Given the description of an element on the screen output the (x, y) to click on. 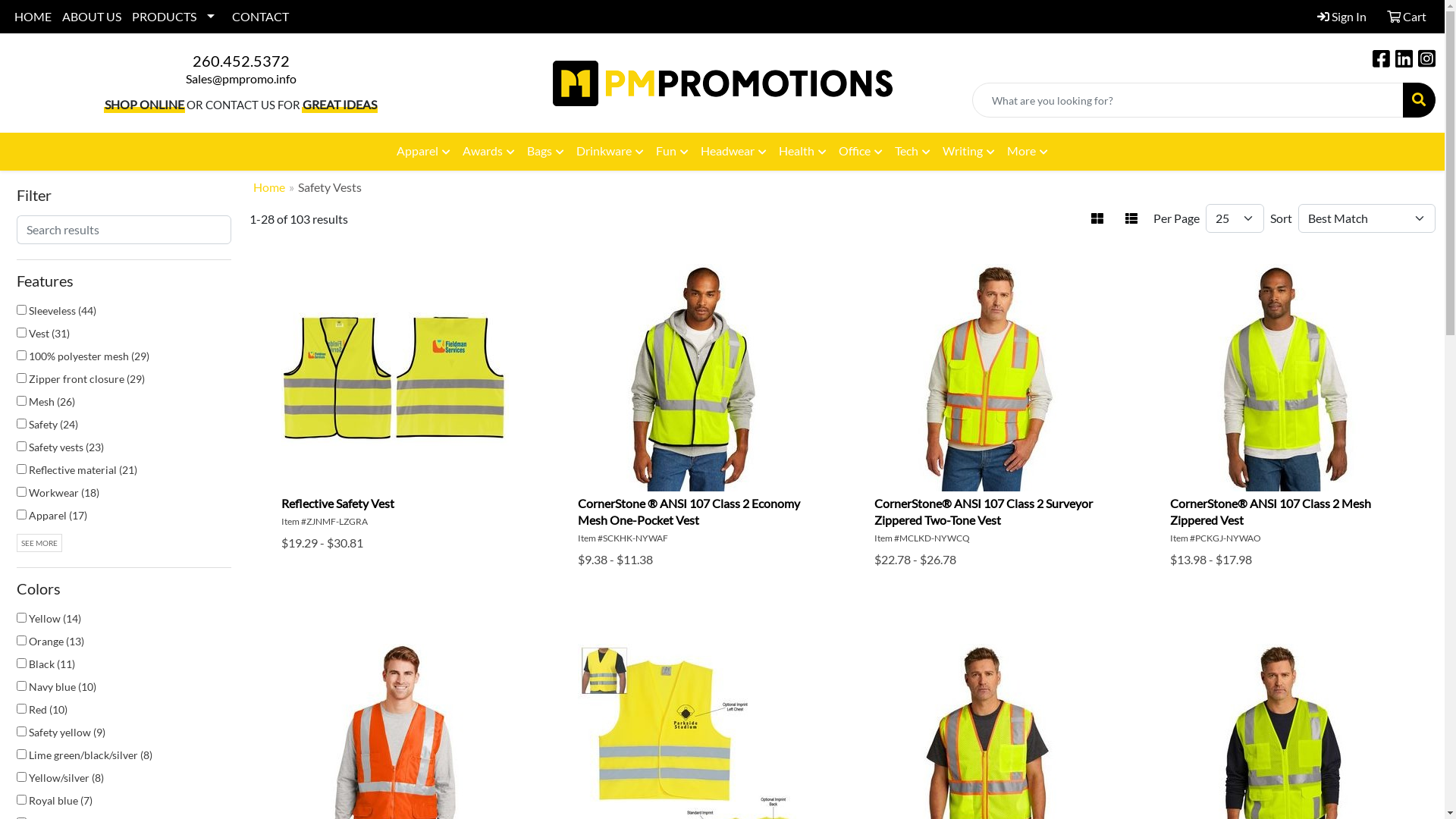
Bags Element type: text (545, 151)
Visit us on Facebook Element type: hover (1381, 60)
HOME Element type: text (32, 16)
Visit us on LinkedIn Element type: hover (1403, 60)
Visit us on Instagram Element type: hover (1426, 60)
Writing Element type: text (968, 151)
Headwear Element type: text (733, 151)
Cart Element type: text (1406, 16)
Sales@pmpromo.info Element type: text (240, 78)
More Element type: text (1027, 151)
Drinkware Element type: text (609, 151)
Fun Element type: text (671, 151)
Office Element type: text (860, 151)
Tech Element type: text (912, 151)
Health Element type: text (802, 151)
Sign In Element type: text (1341, 16)
ABOUT US Element type: text (91, 16)
260.452.5372 Element type: text (240, 60)
Awards Element type: text (488, 151)
CONTACT Element type: text (260, 16)
Apparel Element type: text (423, 151)
PRODUCTS Element type: text (176, 16)
